Given the description of an element on the screen output the (x, y) to click on. 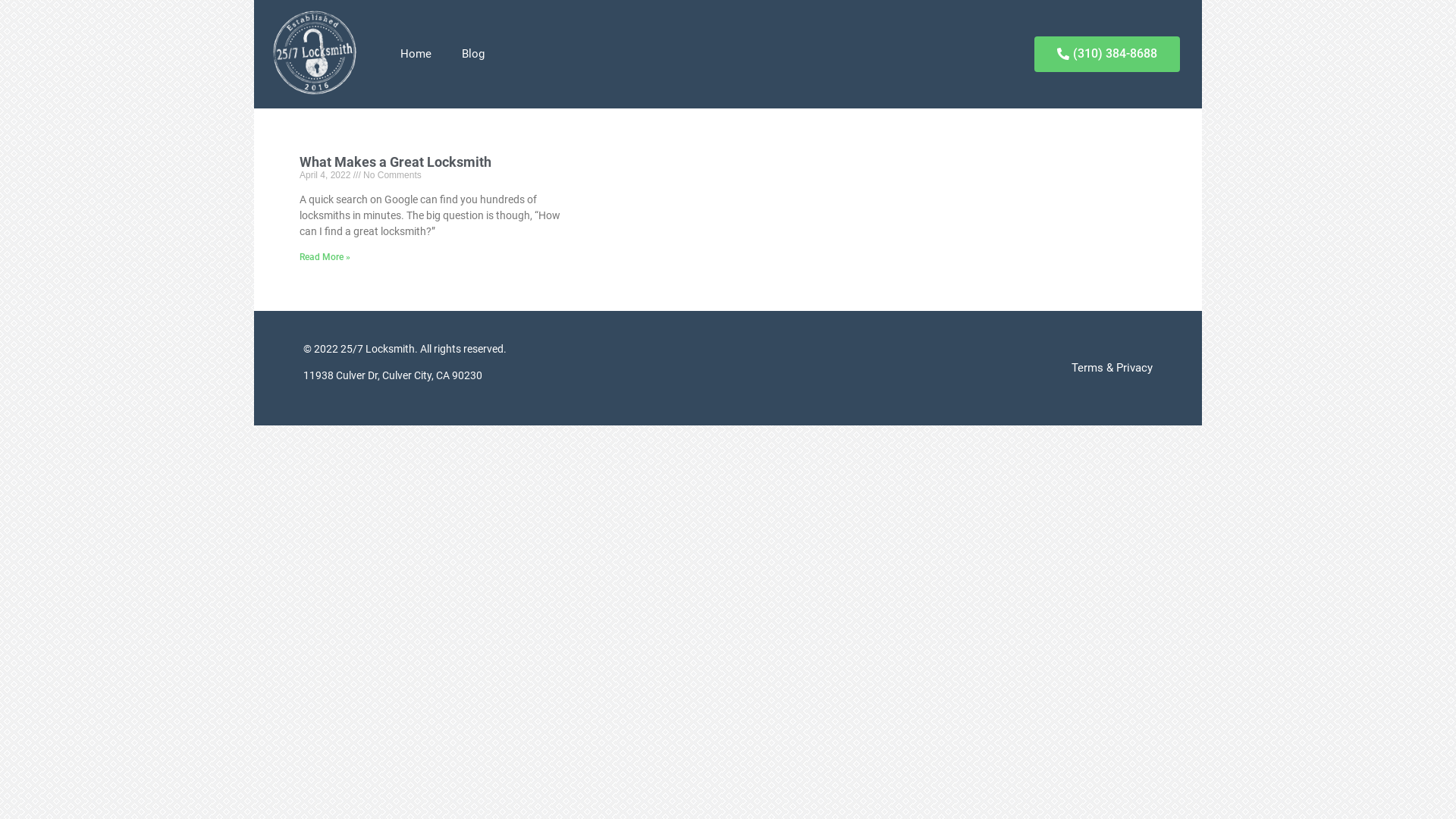
(310) 384-8688 Element type: text (1106, 54)
Terms & Privacy Element type: text (943, 367)
Blog Element type: text (471, 53)
What Makes a Great Locksmith Element type: text (395, 161)
Home Element type: text (415, 53)
